Given the description of an element on the screen output the (x, y) to click on. 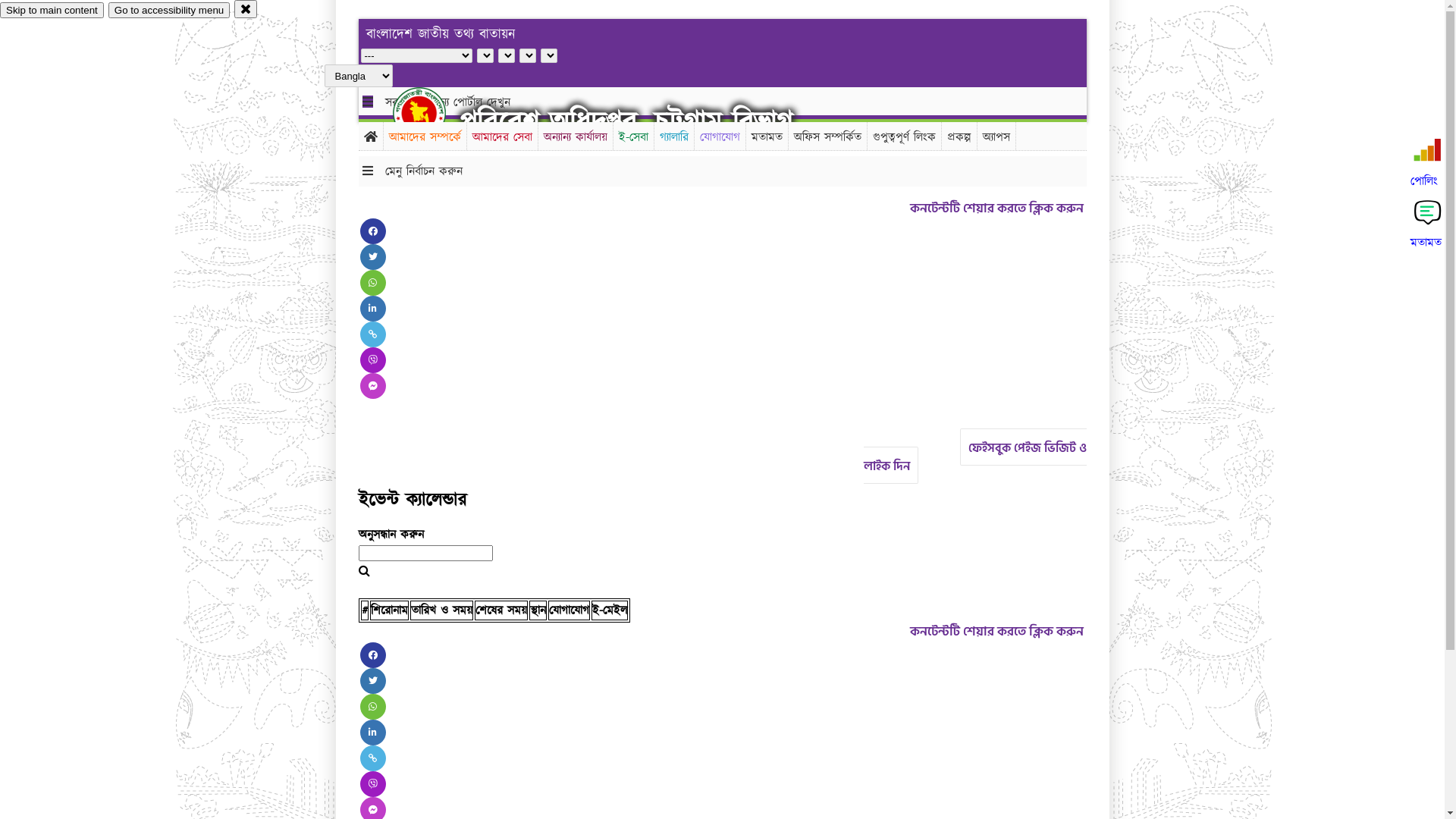

                
             Element type: hover (431, 112)
close Element type: hover (245, 9)
Skip to main content Element type: text (51, 10)
Go to accessibility menu Element type: text (168, 10)
